Given the description of an element on the screen output the (x, y) to click on. 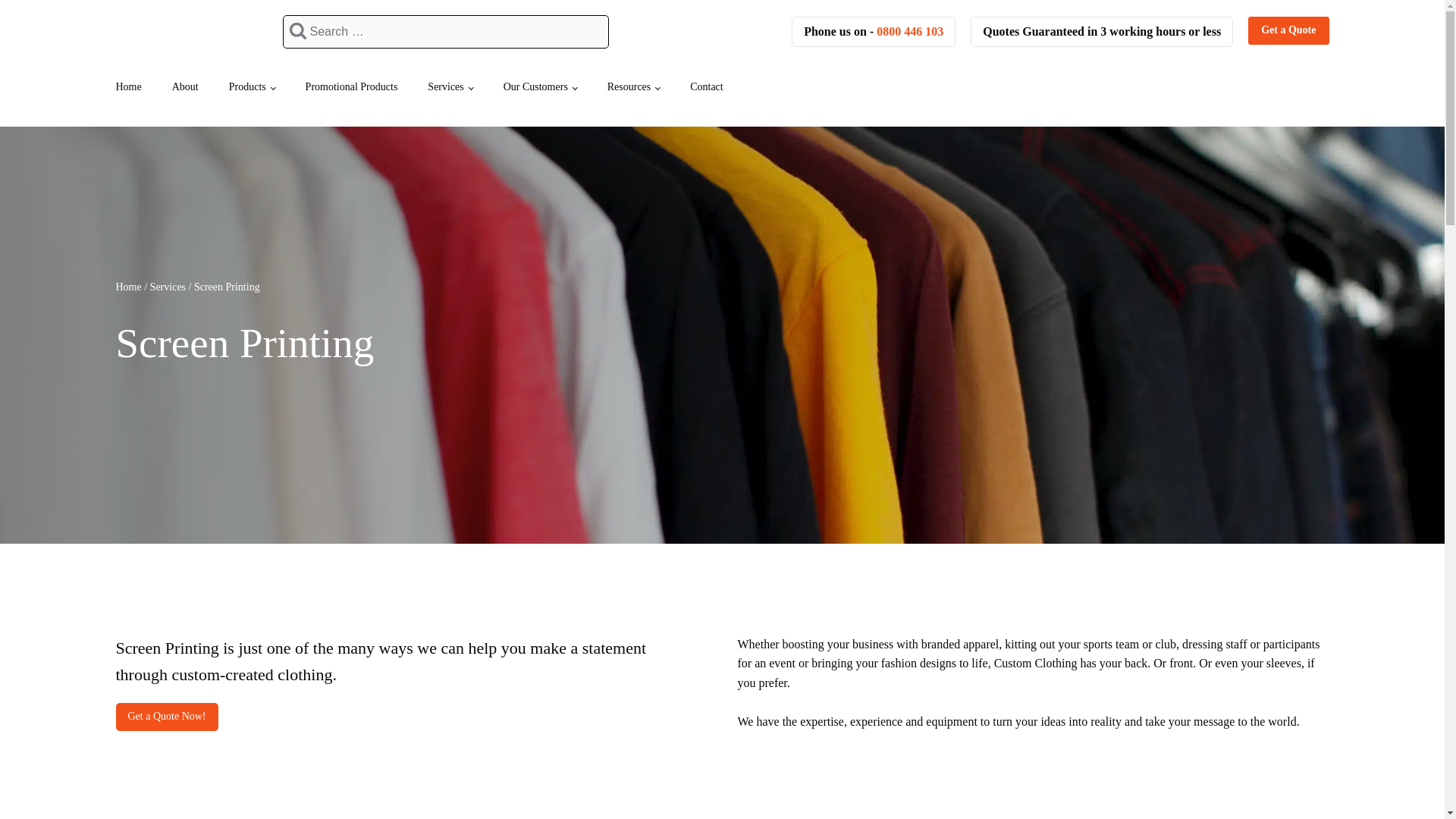
Search (31, 13)
Get a Quote (1287, 30)
Products (251, 86)
Our Customers (539, 86)
Phone us on - 0800 446 103 (873, 31)
Quotes Guaranteed in 3 working hours or less (1102, 31)
Home (127, 86)
Services (449, 86)
About (185, 86)
Promotional Products (351, 86)
